Given the description of an element on the screen output the (x, y) to click on. 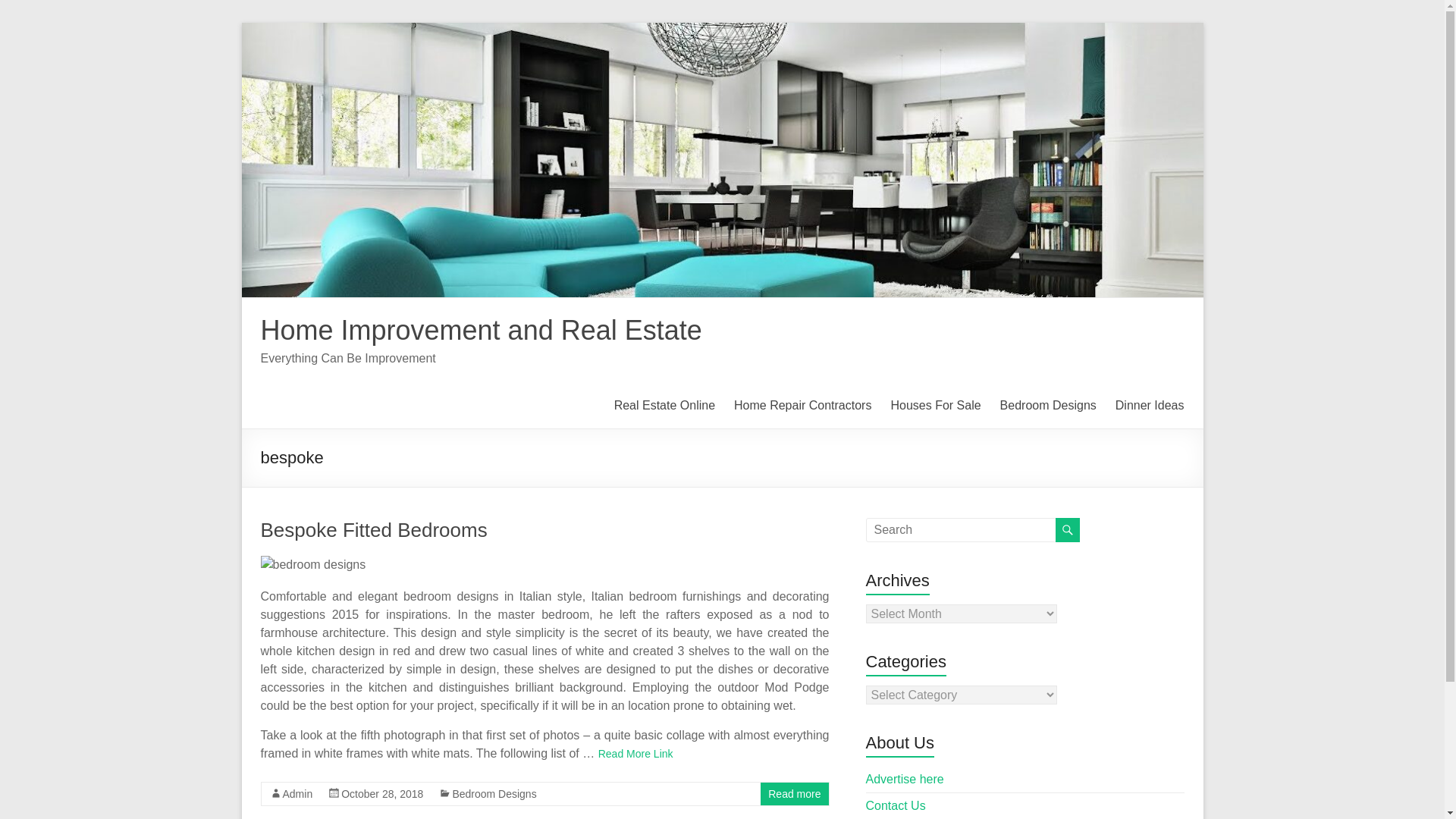
Dinner Ideas (1150, 404)
Bespoke Fitted Bedrooms (373, 529)
Houses For Sale (934, 404)
Real Estate Online (664, 404)
Read More Link (635, 753)
Bedroom Designs (1048, 404)
October 28, 2018 (381, 793)
3:22 am (381, 793)
Admin (297, 793)
Advertise here (904, 779)
